Given the description of an element on the screen output the (x, y) to click on. 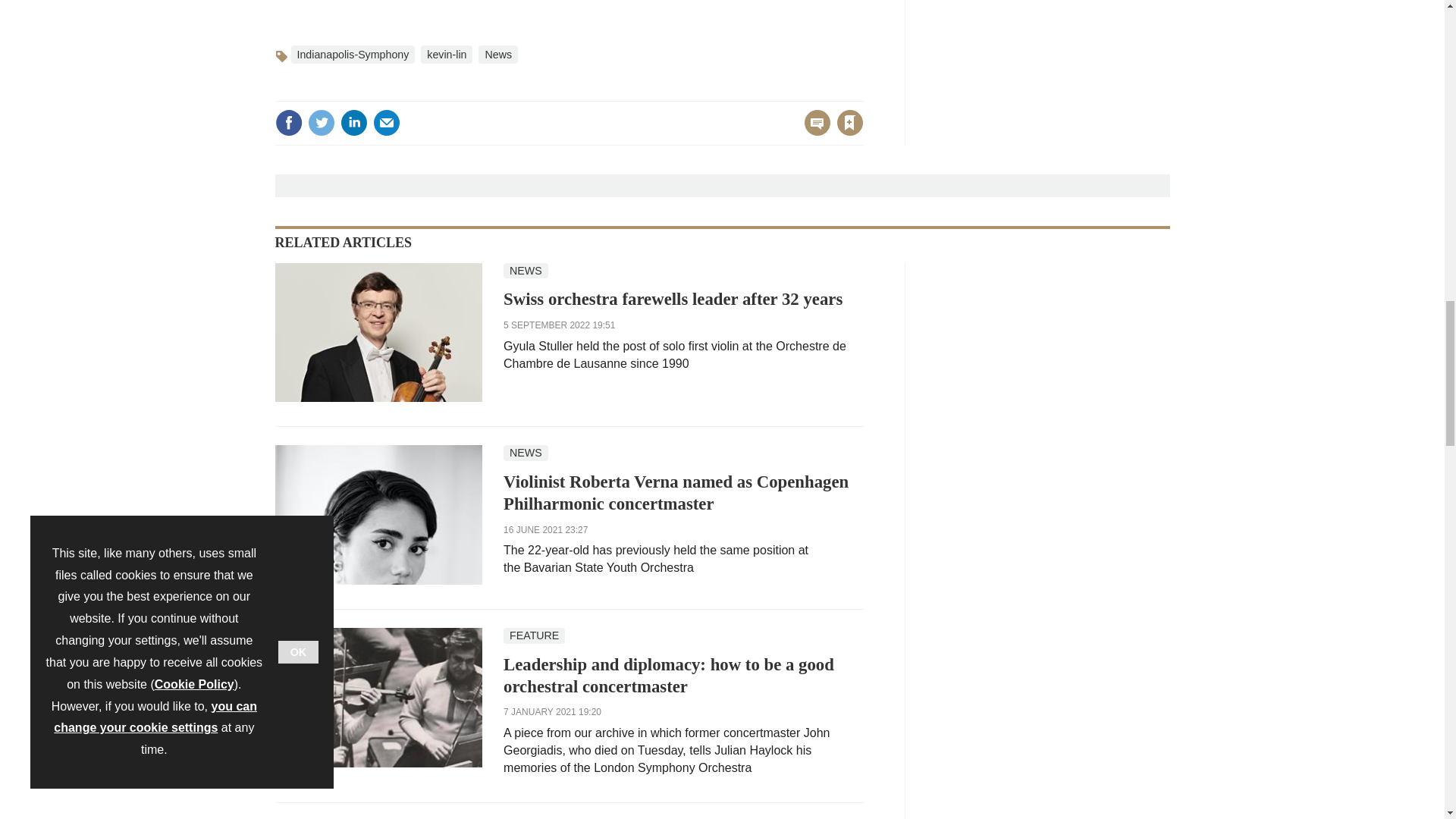
No comments (812, 131)
Share this on Linked in (352, 122)
Email this article (386, 122)
Share this on Facebook (288, 122)
Share this on Twitter (320, 122)
